Given the description of an element on the screen output the (x, y) to click on. 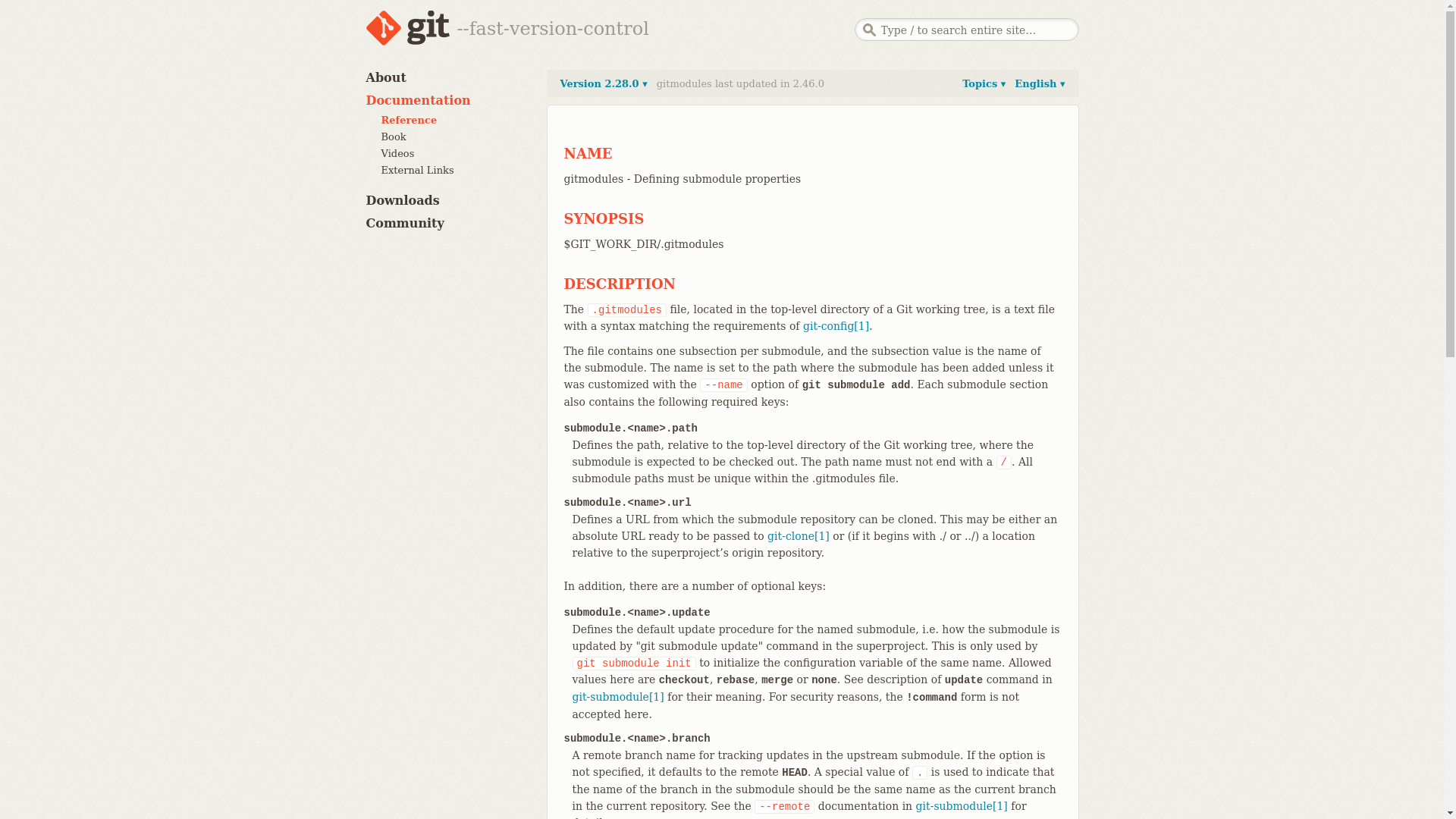
About (385, 77)
External Links (416, 170)
Downloads (402, 200)
Videos (396, 153)
Documentation (417, 100)
Community (404, 223)
Book (393, 136)
Reference (408, 120)
